Given the description of an element on the screen output the (x, y) to click on. 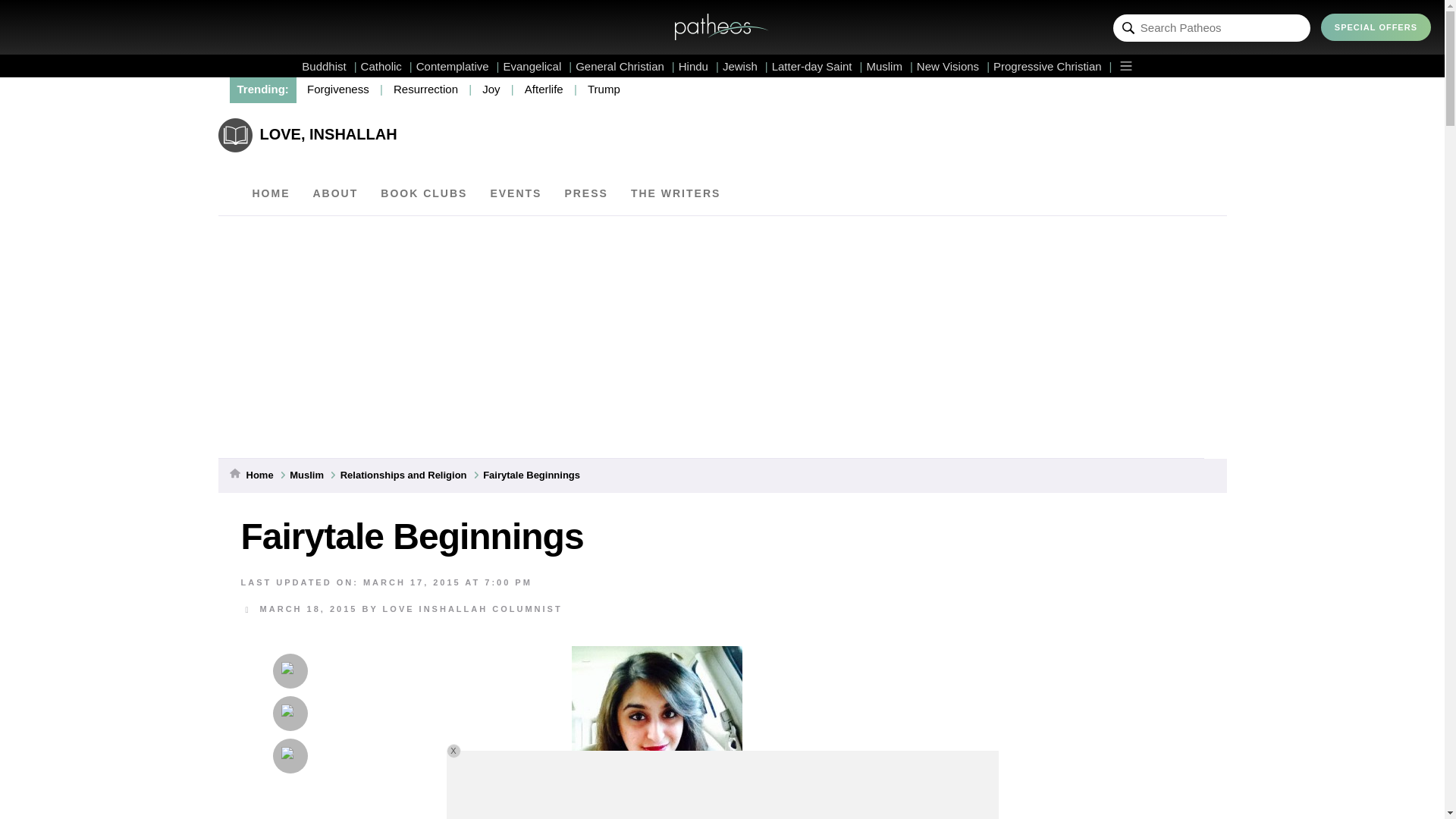
Catholic (386, 65)
Progressive Christian (1052, 65)
SPECIAL OFFERS (1375, 26)
Evangelical (537, 65)
New Visions (953, 65)
Jewish (745, 65)
Contemplative (457, 65)
Hindu (698, 65)
Latter-day Saint (817, 65)
Muslim (889, 65)
General Christian (625, 65)
Buddhist (328, 65)
